Given the description of an element on the screen output the (x, y) to click on. 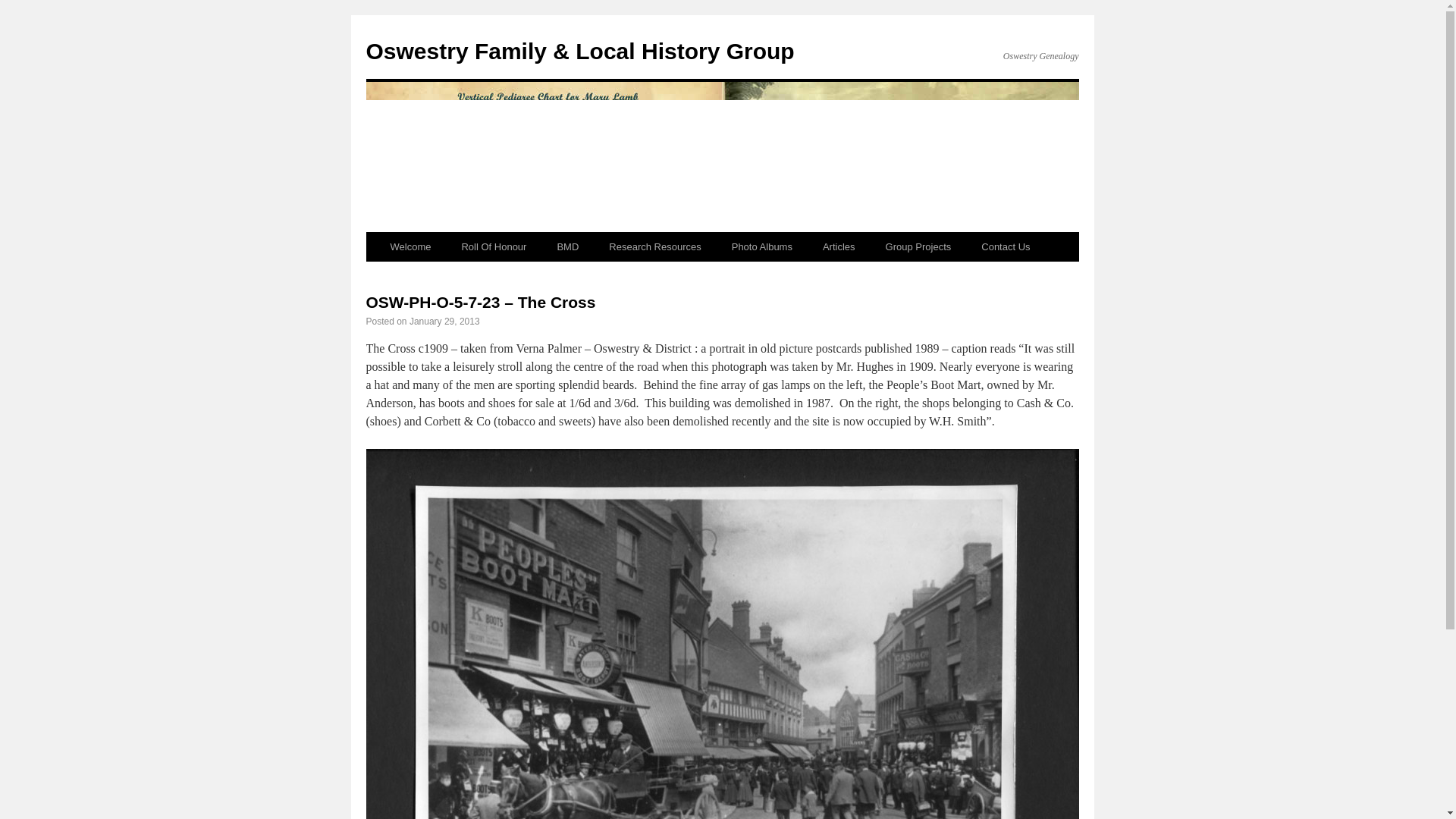
January 29, 2013 (444, 321)
Roll Of Honour (493, 246)
Research Resources (655, 246)
5:02 pm (444, 321)
Articles (839, 246)
BMD (567, 246)
Photo Albums (762, 246)
Welcome (409, 246)
Contact Us (1005, 246)
Group Projects (918, 246)
